Given the description of an element on the screen output the (x, y) to click on. 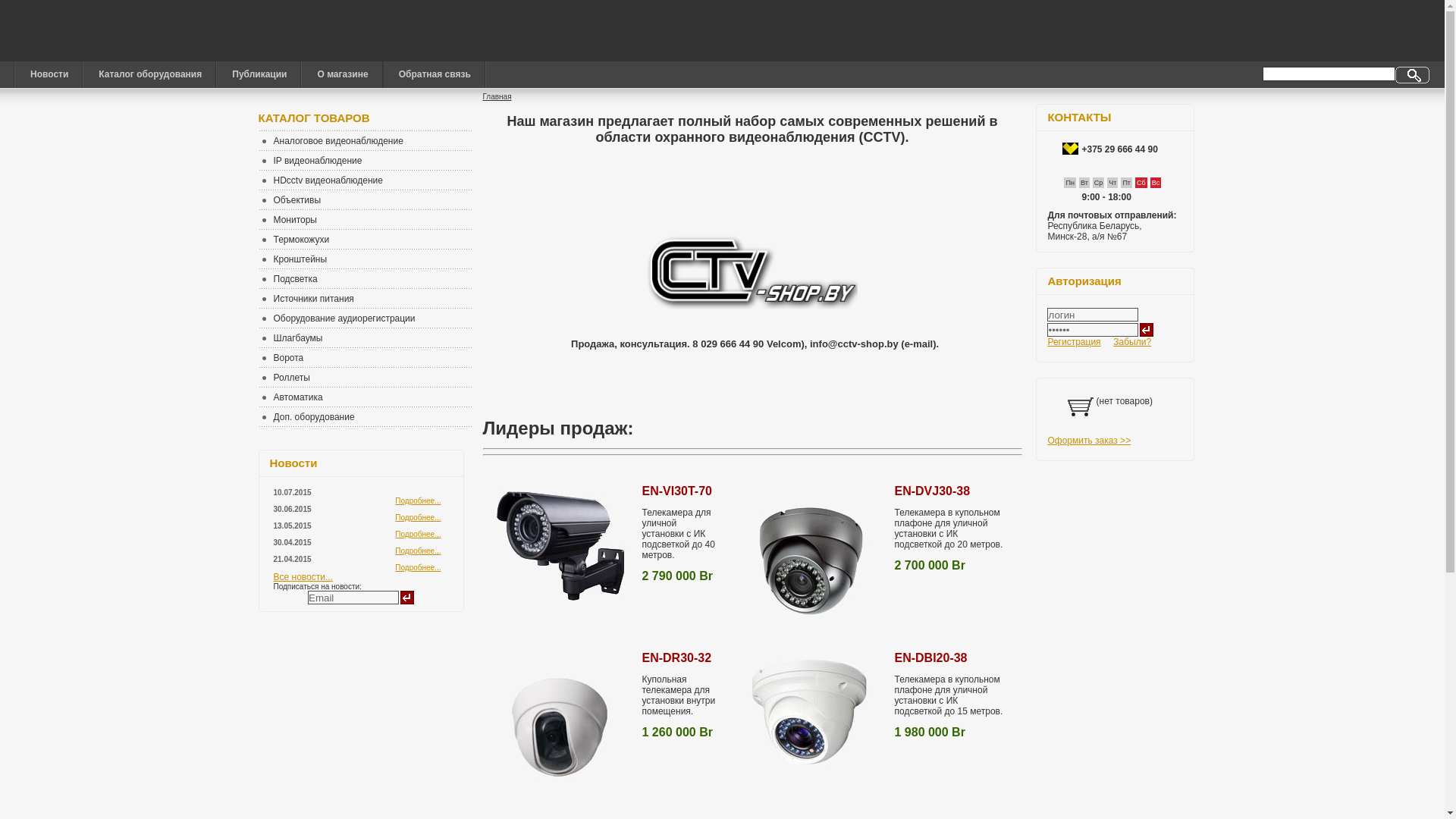
EN-DBI20-38 Element type: text (930, 657)
EN-DVJ30-38 Element type: text (931, 490)
EN-VI30T-70 Element type: text (676, 490)
EN-DR30-32 Element type: text (676, 657)
